Given the description of an element on the screen output the (x, y) to click on. 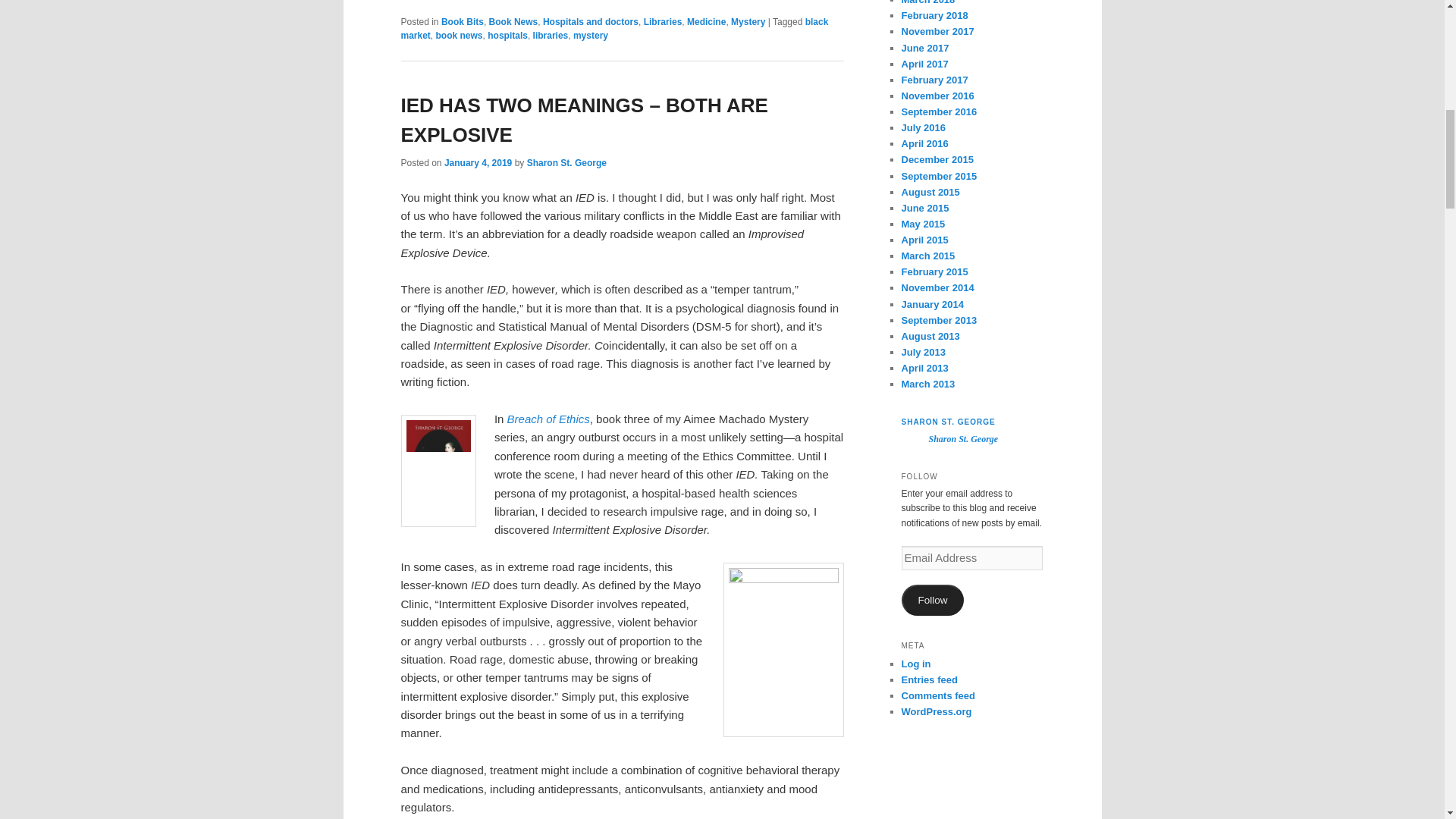
Medicine (706, 21)
Sharon St. George (567, 163)
Book News (513, 21)
hospitals (507, 35)
Libraries (662, 21)
book news (459, 35)
black market (614, 28)
Breach of Ethics (547, 418)
Hospitals and doctors (591, 21)
Book Bits (462, 21)
